Given the description of an element on the screen output the (x, y) to click on. 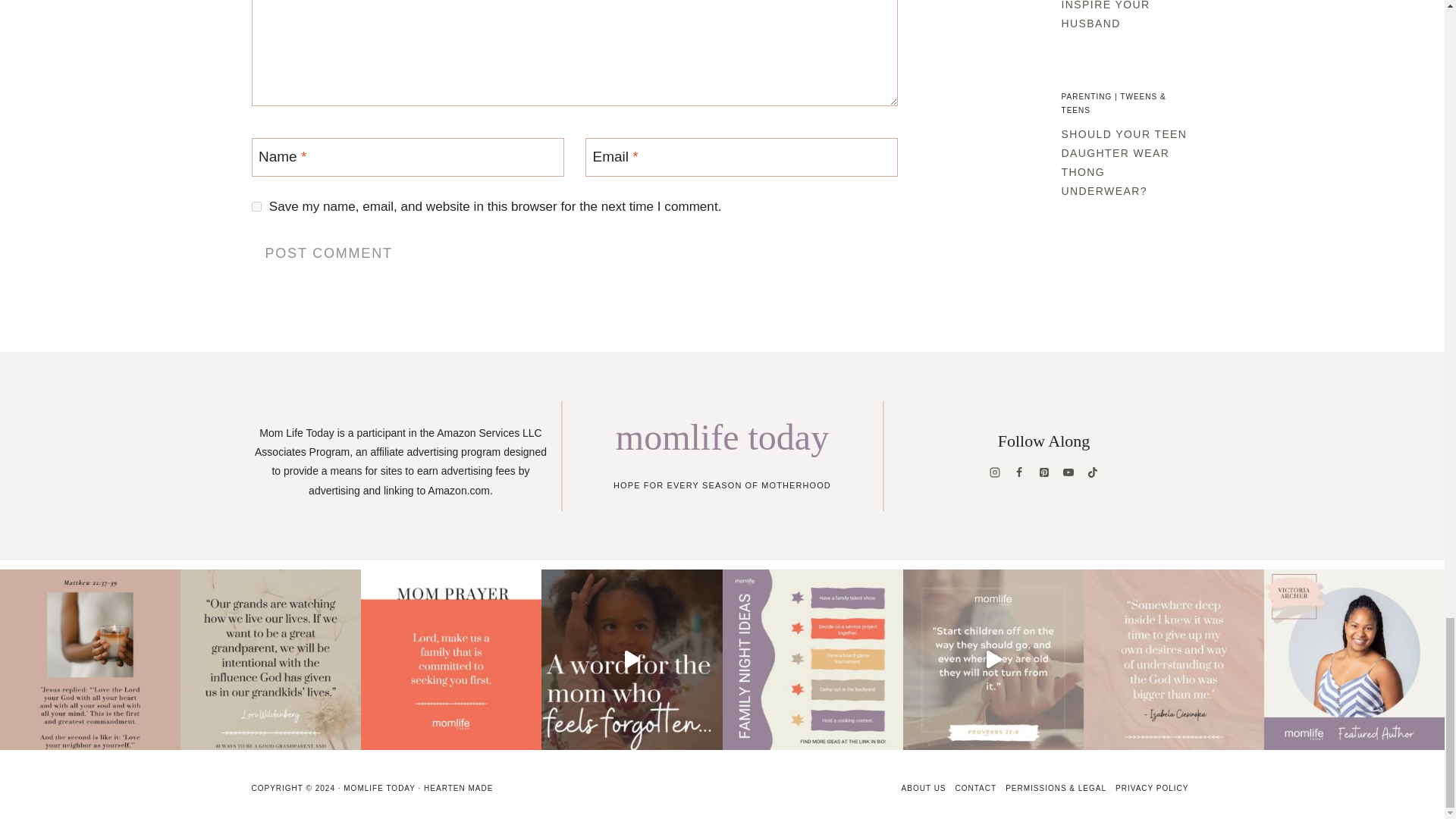
yes (256, 206)
Post Comment (328, 252)
